Given the description of an element on the screen output the (x, y) to click on. 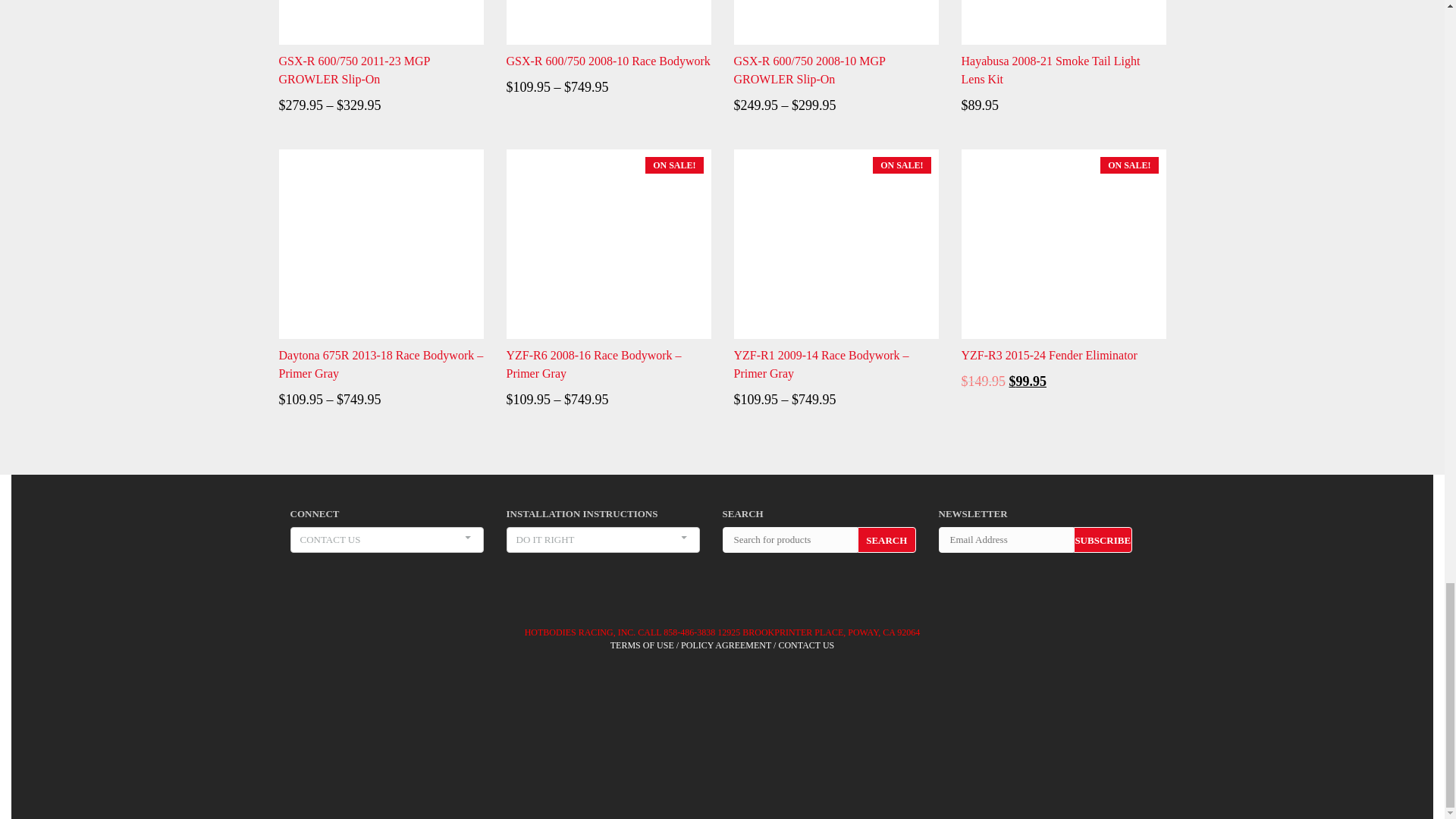
Subscribe (1103, 539)
Search (886, 539)
